Given the description of an element on the screen output the (x, y) to click on. 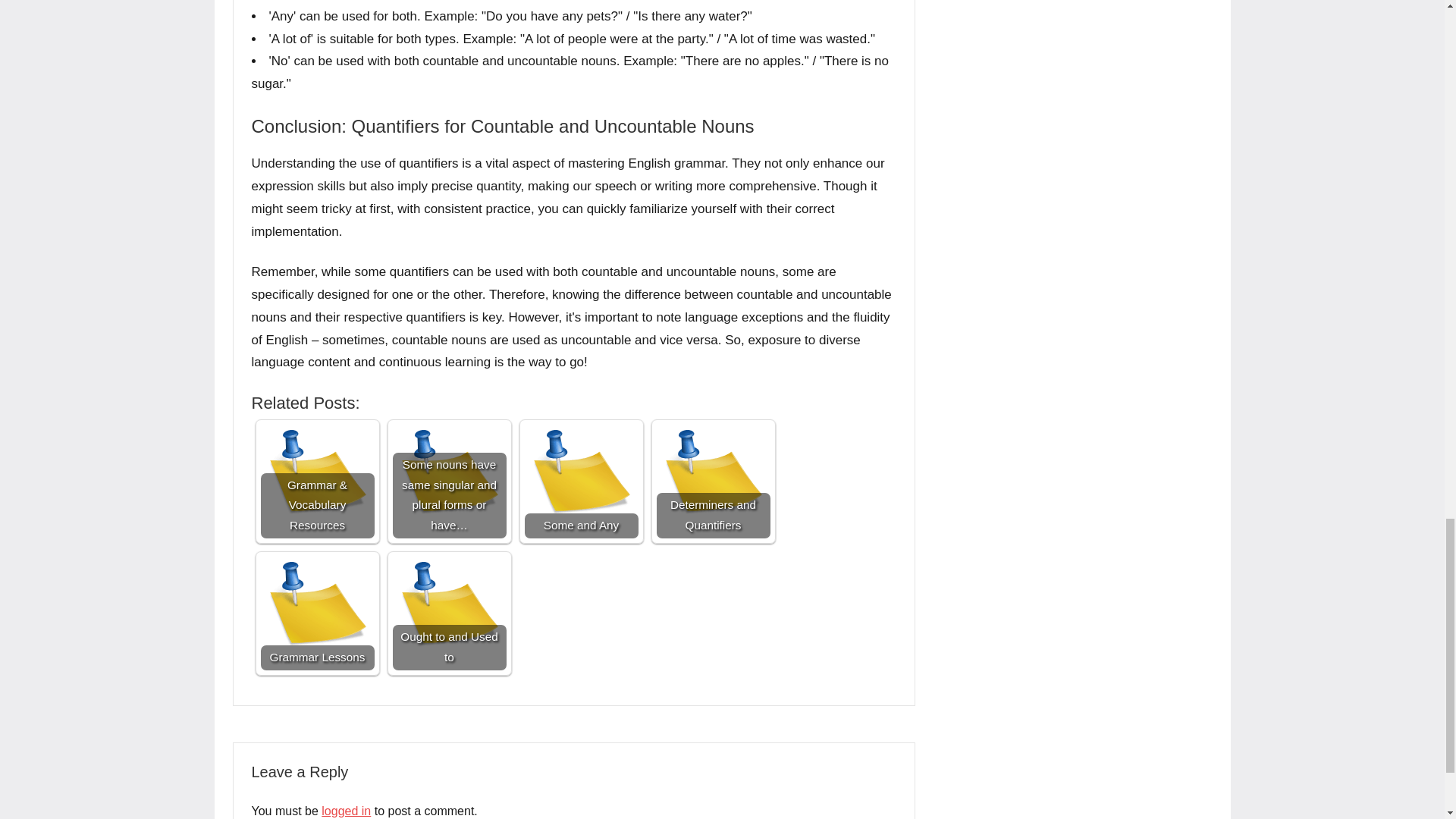
Ought to and Used to (449, 613)
Grammar Lessons (317, 613)
Determiners and Quantifiers (713, 481)
logged in (346, 810)
Grammar Lessons (317, 613)
Some and Any (581, 481)
Some and Any (581, 481)
Determiners and Quantifiers (713, 481)
